Given the description of an element on the screen output the (x, y) to click on. 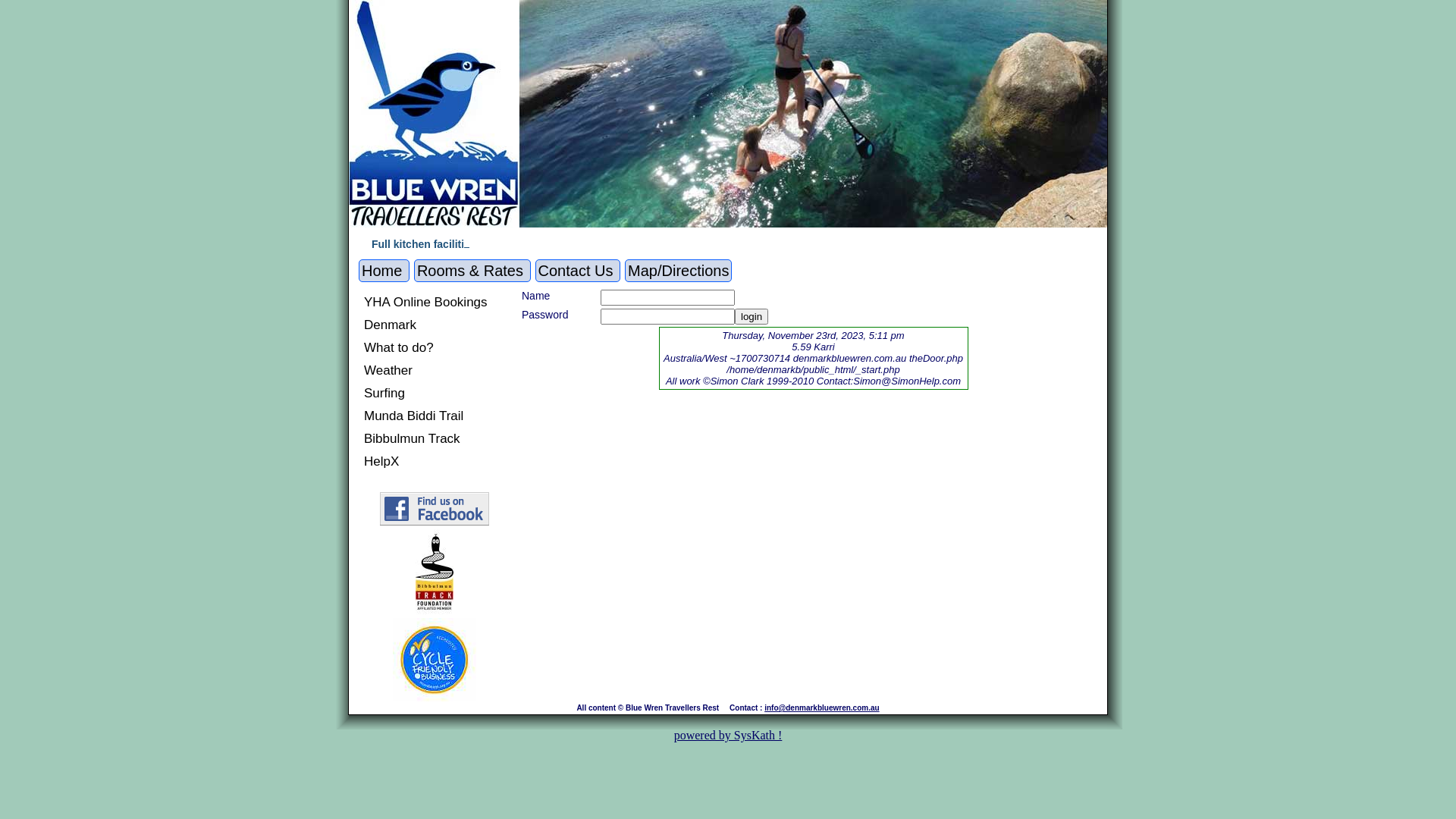
Map/Directions Element type: text (677, 270)
Home Element type: text (383, 270)
What to do? Element type: text (398, 347)
Surfing Element type: text (384, 392)
Rooms & Rates Element type: text (472, 270)
Bibbulmun Track Element type: text (412, 438)
HelpX Element type: text (381, 461)
Munda Biddi Trail Element type: text (413, 415)
YHA Online Bookings Element type: text (425, 301)
Denmark Element type: text (390, 324)
powered by SysKath ! Element type: text (728, 734)
login Element type: text (751, 316)
Weather Element type: text (388, 370)
info@denmarkbluewren.com.au Element type: text (821, 707)
Contact Us Element type: text (578, 270)
